Given the description of an element on the screen output the (x, y) to click on. 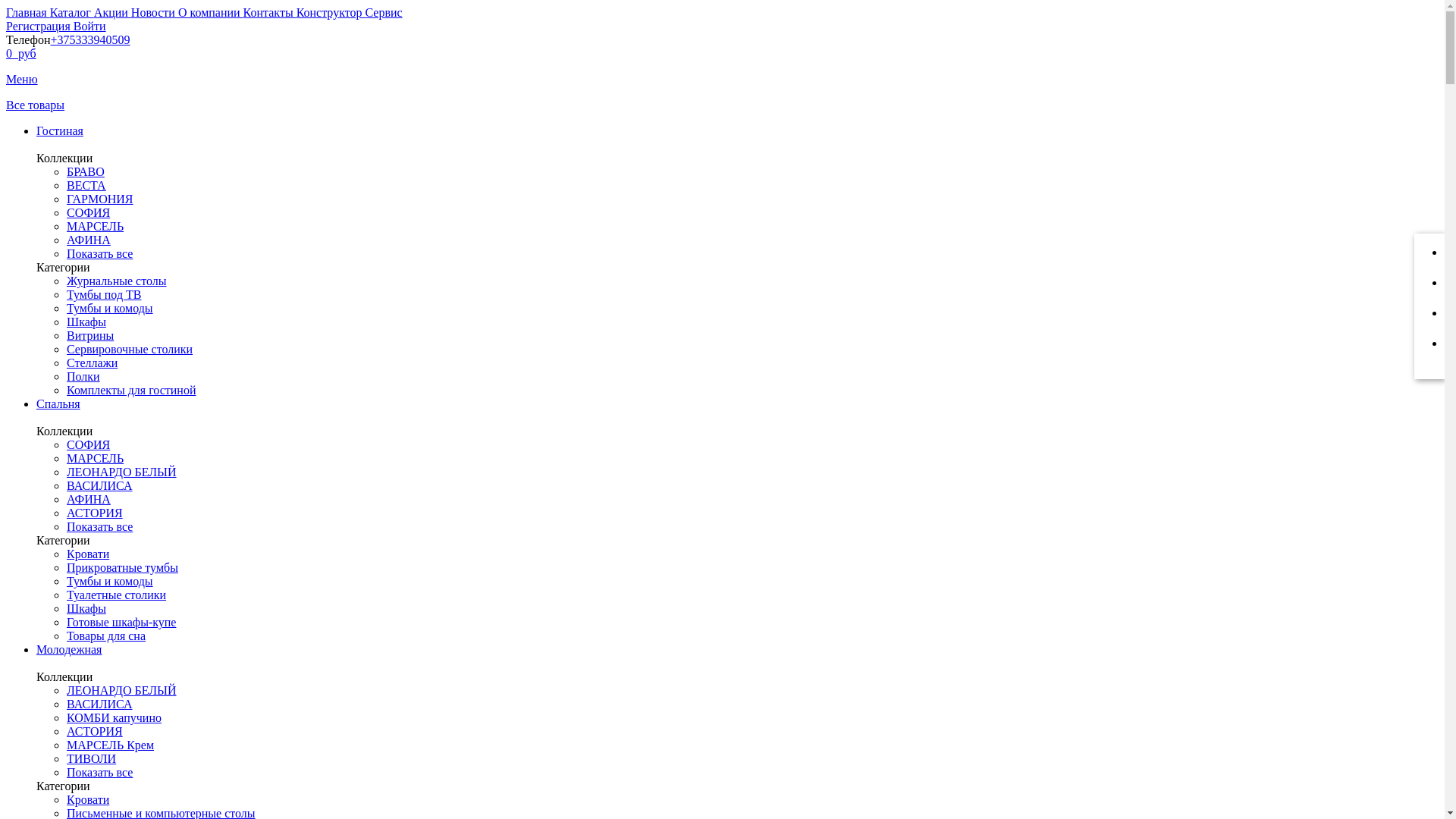
+375333940509 Element type: text (89, 39)
